Given the description of an element on the screen output the (x, y) to click on. 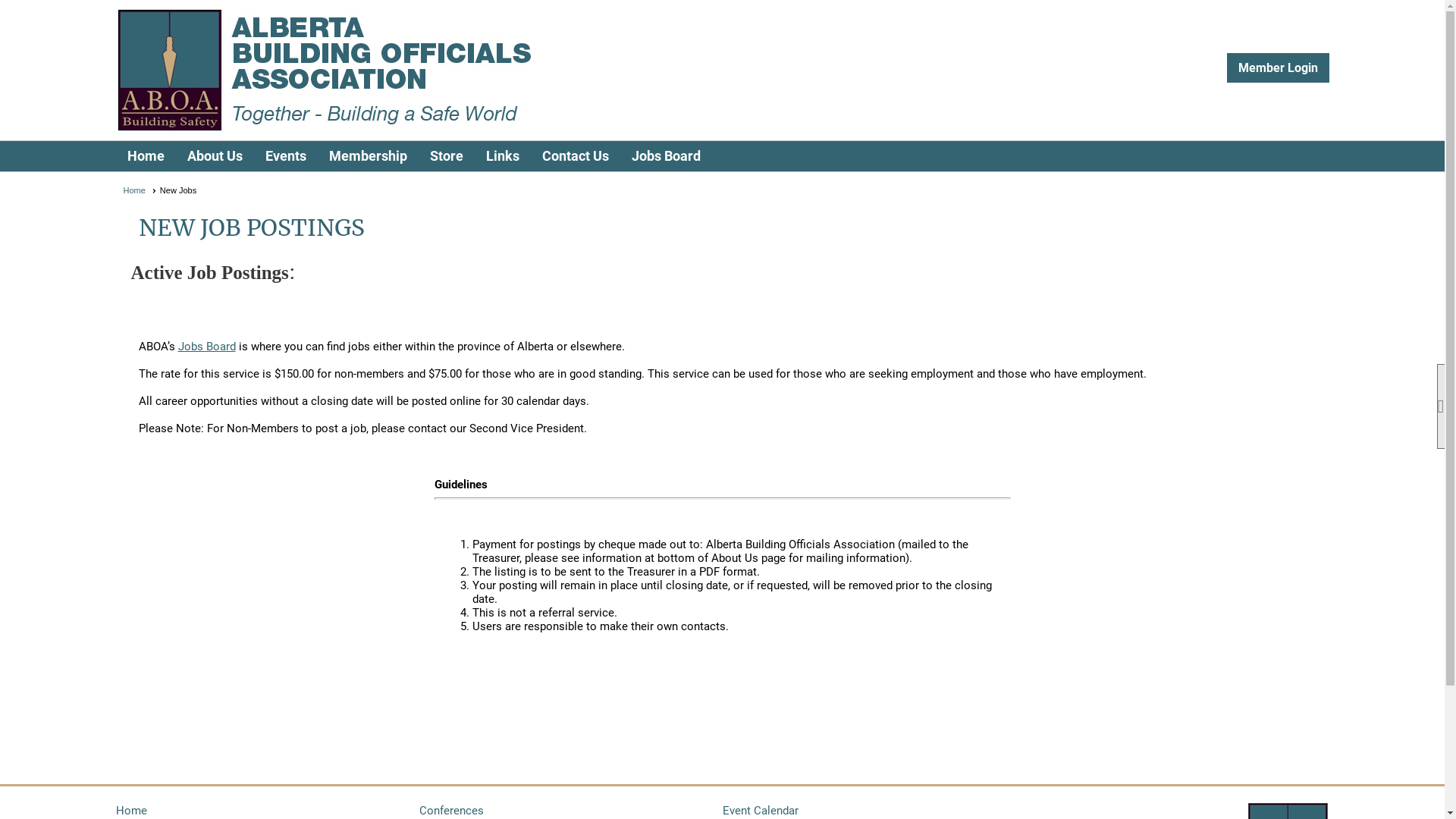
Jobs Board Element type: text (206, 346)
Contact Us Element type: text (574, 156)
Home Element type: text (138, 189)
Jobs Board Element type: text (665, 156)
Links Element type: text (501, 156)
Member Login Element type: text (1277, 67)
Home Element type: text (145, 156)
